Given the description of an element on the screen output the (x, y) to click on. 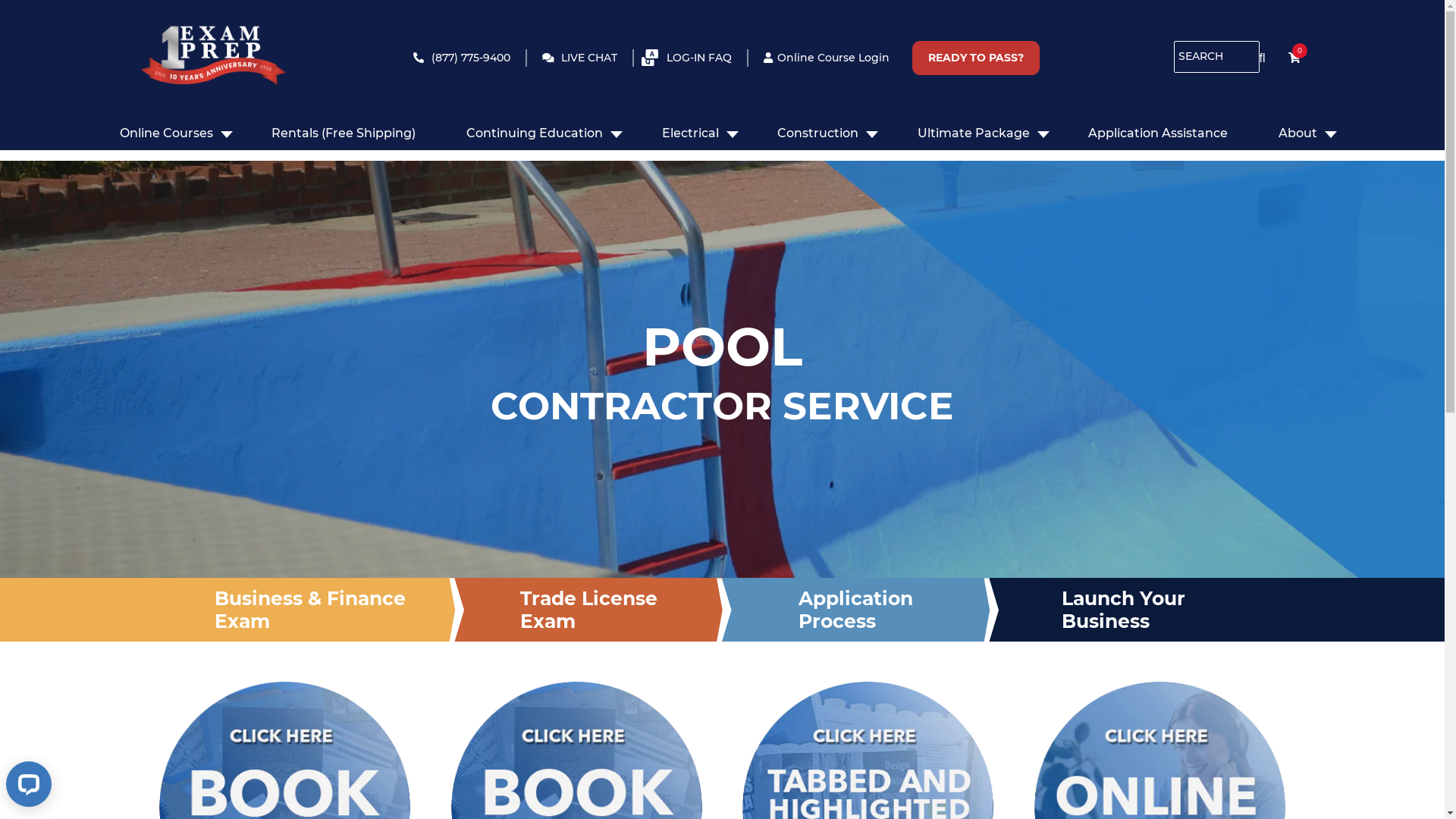
(877) 775-9400 Element type: text (460, 57)
Ultimate Package Element type: text (973, 133)
0 Element type: text (1289, 57)
LIVE CHAT Element type: text (578, 57)
READY TO PASS? Element type: text (974, 57)
LOG-IN FAQ Element type: text (690, 57)
Electrical Element type: text (690, 133)
Application Assistance Element type: text (1157, 133)
Online Course Login Element type: text (826, 57)
Construction Element type: text (817, 133)
Site-Logo Element type: hover (212, 63)
Continuing Education Element type: text (534, 133)
About Element type: text (1297, 133)
Rentals (Free Shipping) Element type: text (343, 133)
Online Courses Element type: text (166, 133)
